Given the description of an element on the screen output the (x, y) to click on. 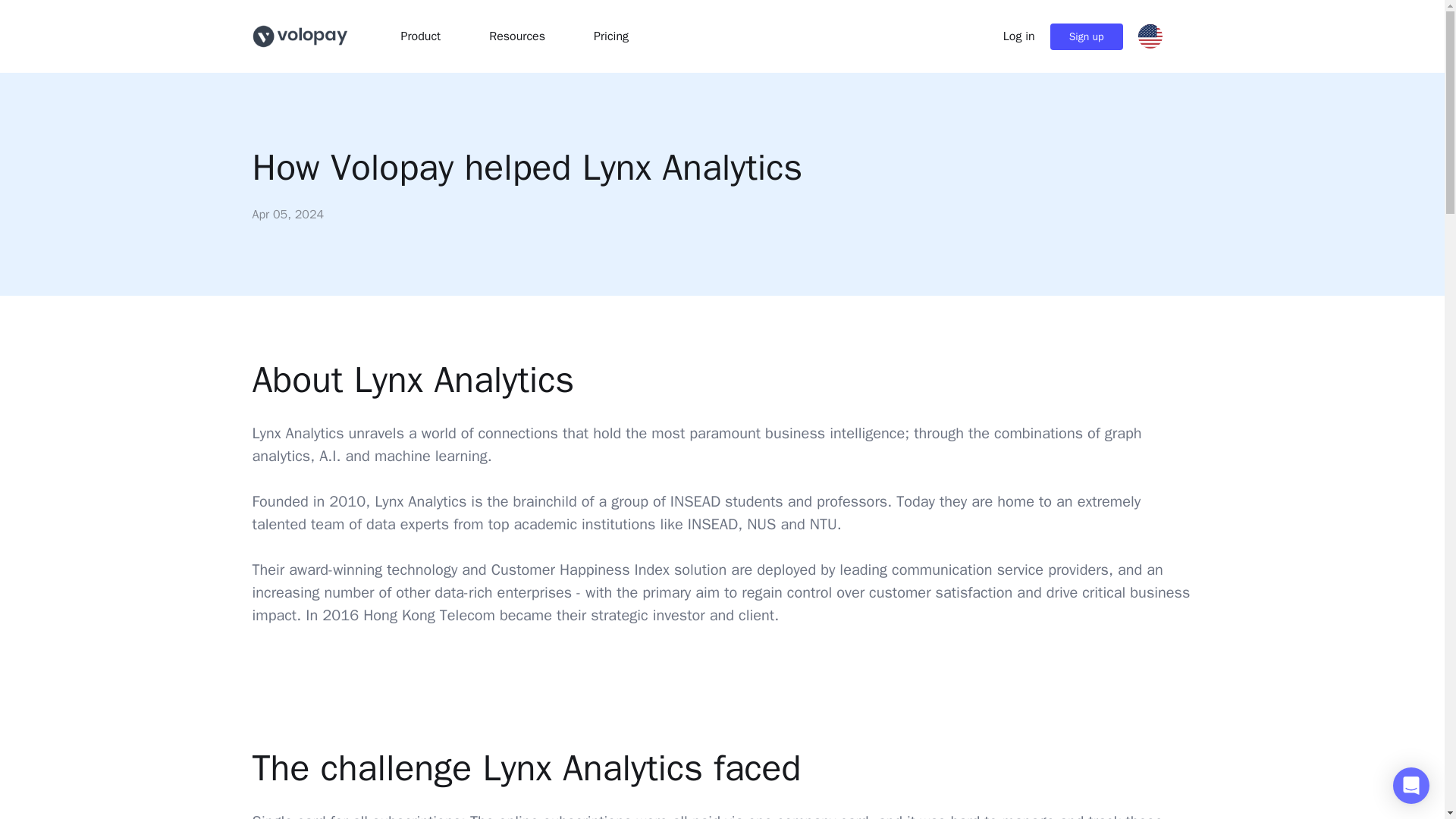
Resources (516, 36)
Sign up (1085, 35)
Pricing (611, 36)
Log in (1019, 36)
Product (420, 36)
